Given the description of an element on the screen output the (x, y) to click on. 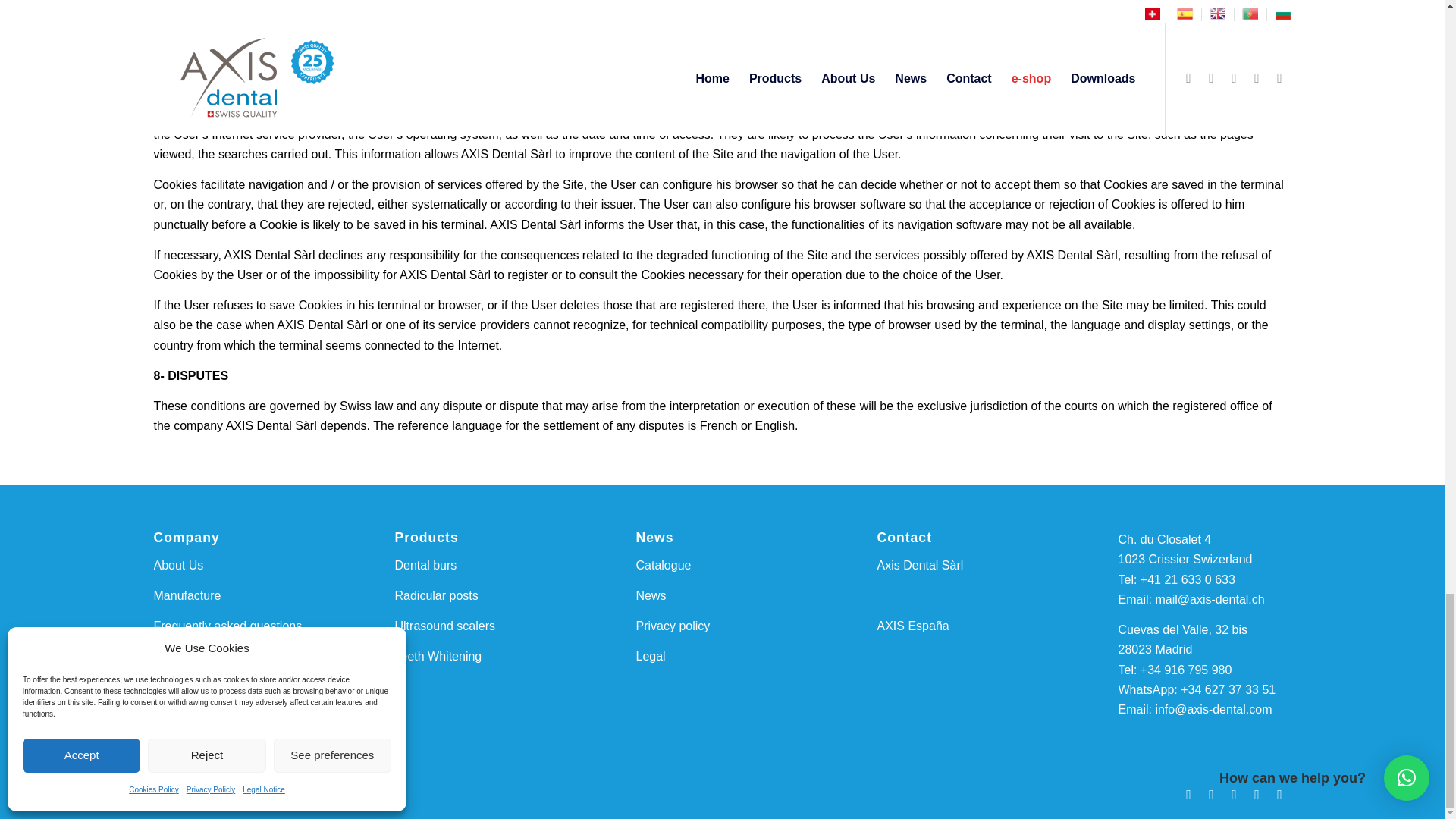
Youtube (1279, 793)
Instagram (1256, 793)
LinkedIn (1233, 793)
Twitter (1211, 793)
Facebook (1187, 793)
